Given the description of an element on the screen output the (x, y) to click on. 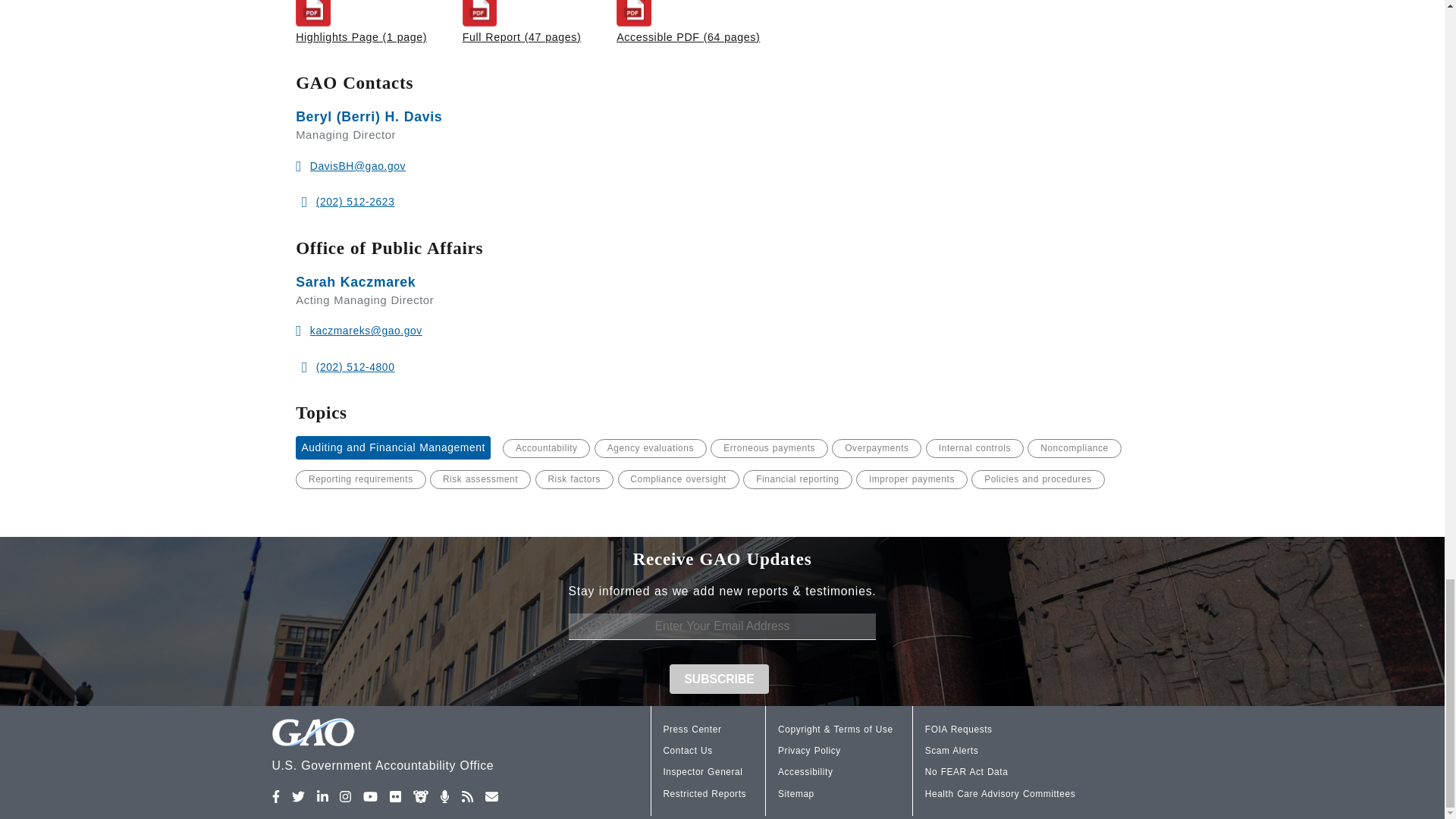
Home (421, 747)
Subscribe (719, 678)
Auditing and Financial Management (392, 447)
Sarah Kaczmarek (354, 281)
Subscribe (719, 678)
